Given the description of an element on the screen output the (x, y) to click on. 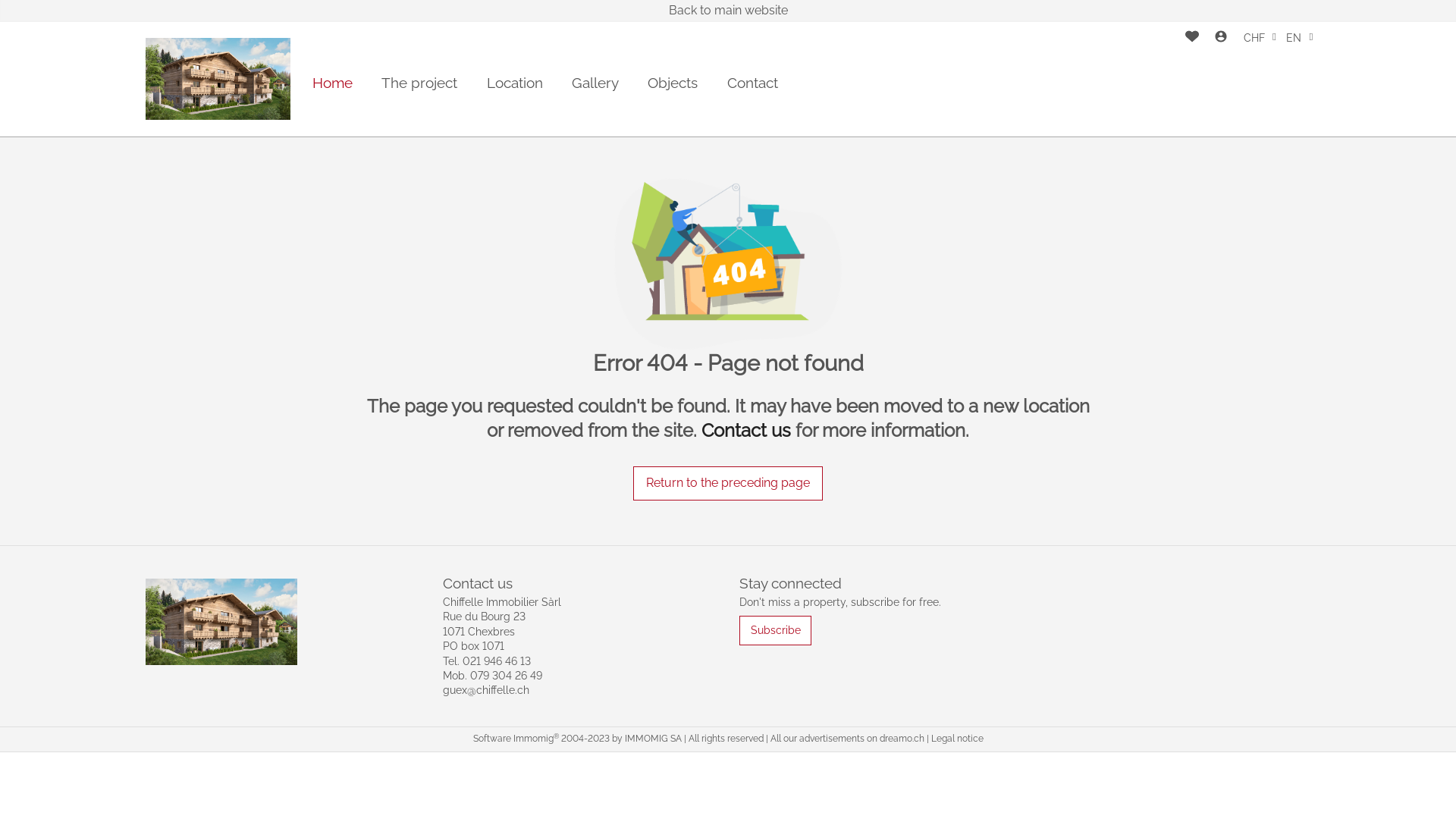
The project Element type: text (419, 82)
Return to the preceding page Element type: text (727, 483)
079 304 26 49 Element type: text (506, 675)
Gallery Element type: text (594, 82)
dreamo.ch Element type: text (901, 738)
Contact Element type: text (752, 82)
guex@chiffelle.ch Element type: text (485, 690)
Subscribe Element type: text (775, 630)
Home Element type: text (332, 82)
Location Element type: text (514, 82)
Contact us Element type: text (745, 430)
Legal notice Element type: text (957, 738)
Objects Element type: text (672, 82)
021 946 46 13 Element type: text (496, 661)
Back to main website Element type: text (727, 10)
